Given the description of an element on the screen output the (x, y) to click on. 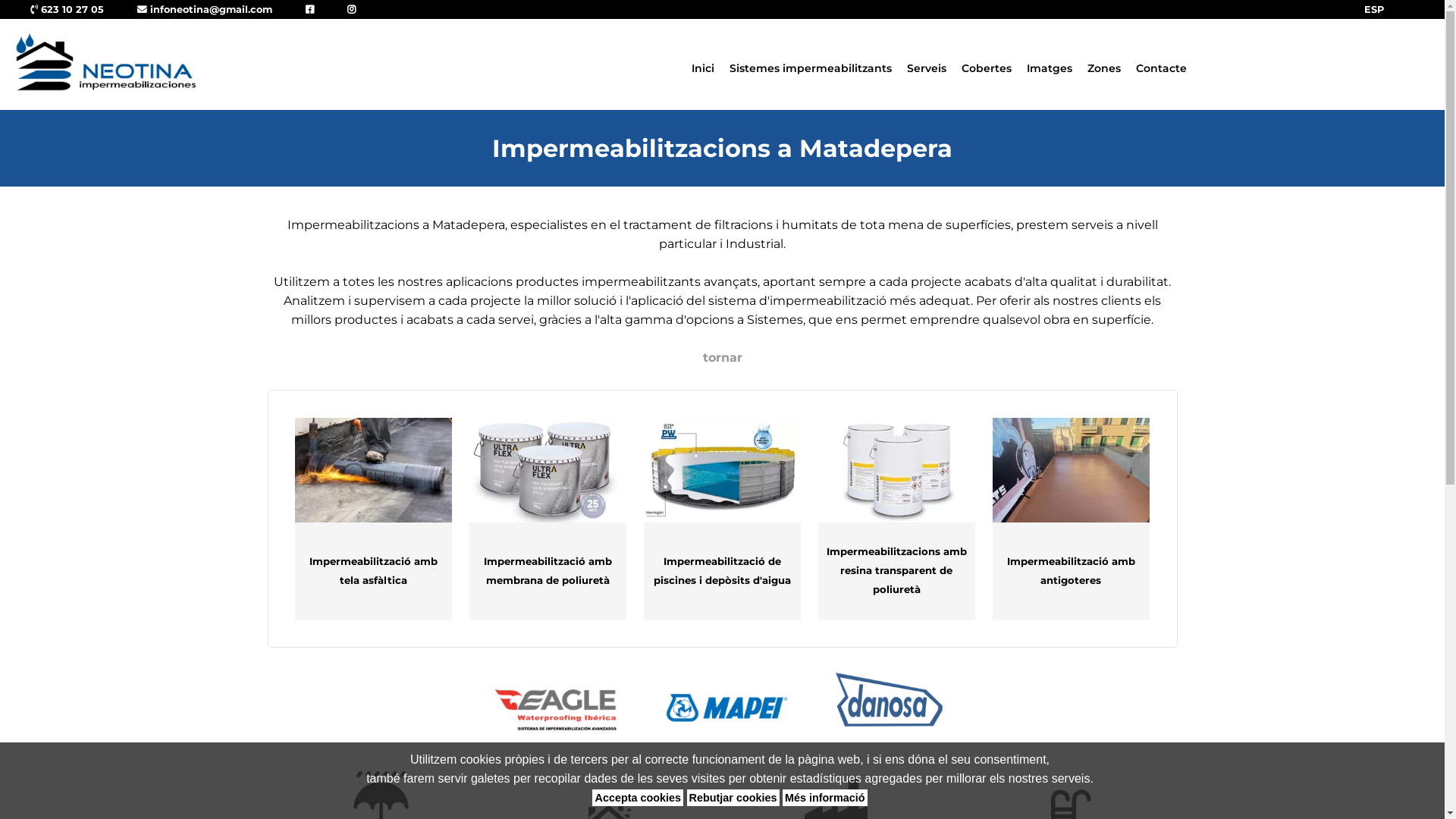
623 10 27 05 Element type: text (66, 9)
Accepta cookies Element type: text (637, 797)
ESP Element type: text (1373, 9)
Imatges Element type: text (1049, 68)
tornar Element type: text (721, 357)
Serveis Element type: text (926, 68)
Inici Element type: text (702, 68)
Rebutjar cookies Element type: text (733, 797)
Zones Element type: text (1103, 68)
infoneotina@gmail.com Element type: text (204, 9)
Sistemes impermeabilitzants Element type: text (810, 68)
Contacte Element type: text (1161, 68)
Cobertes Element type: text (986, 68)
